Given the description of an element on the screen output the (x, y) to click on. 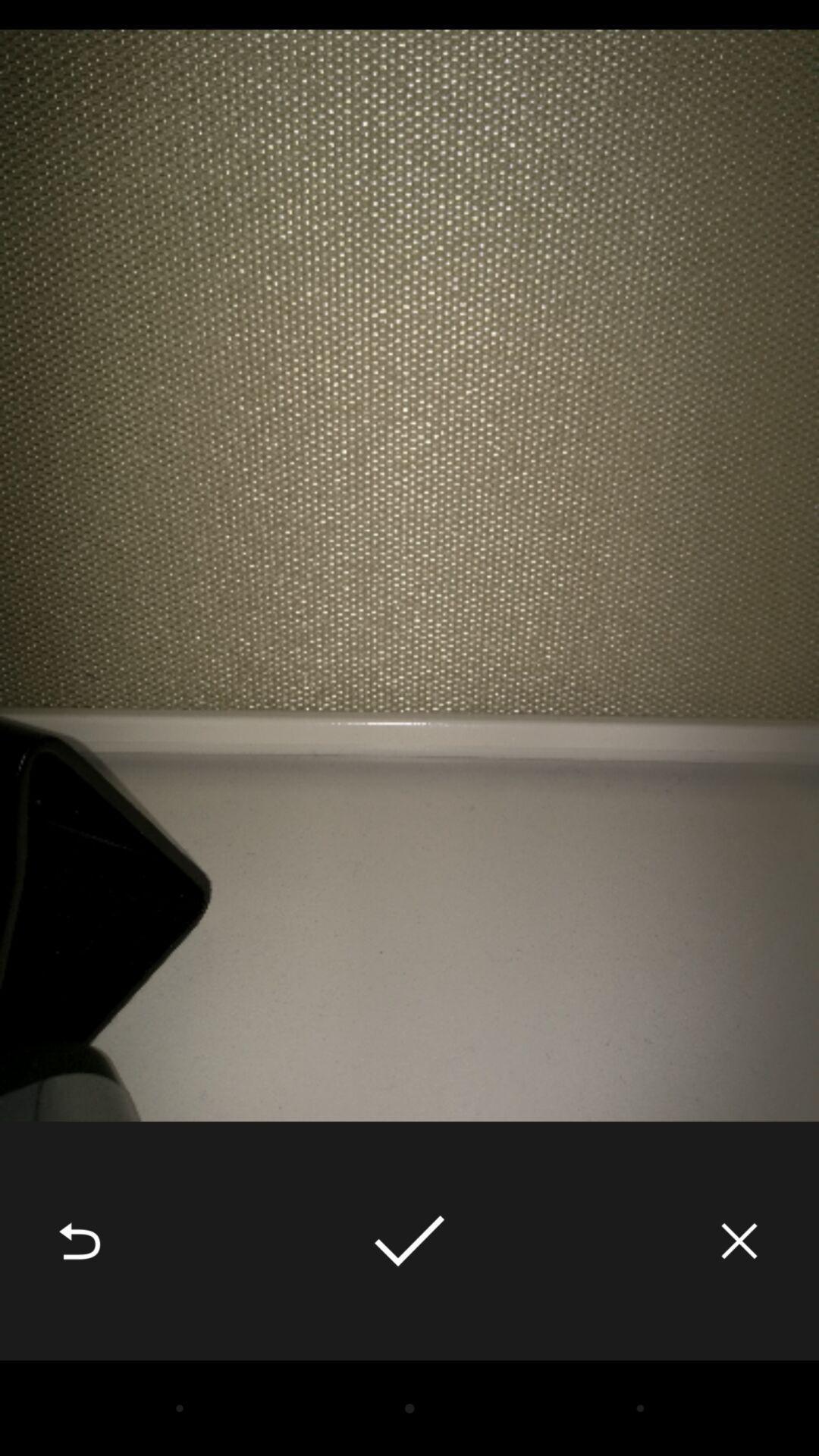
choose the item at the bottom left corner (79, 1240)
